Given the description of an element on the screen output the (x, y) to click on. 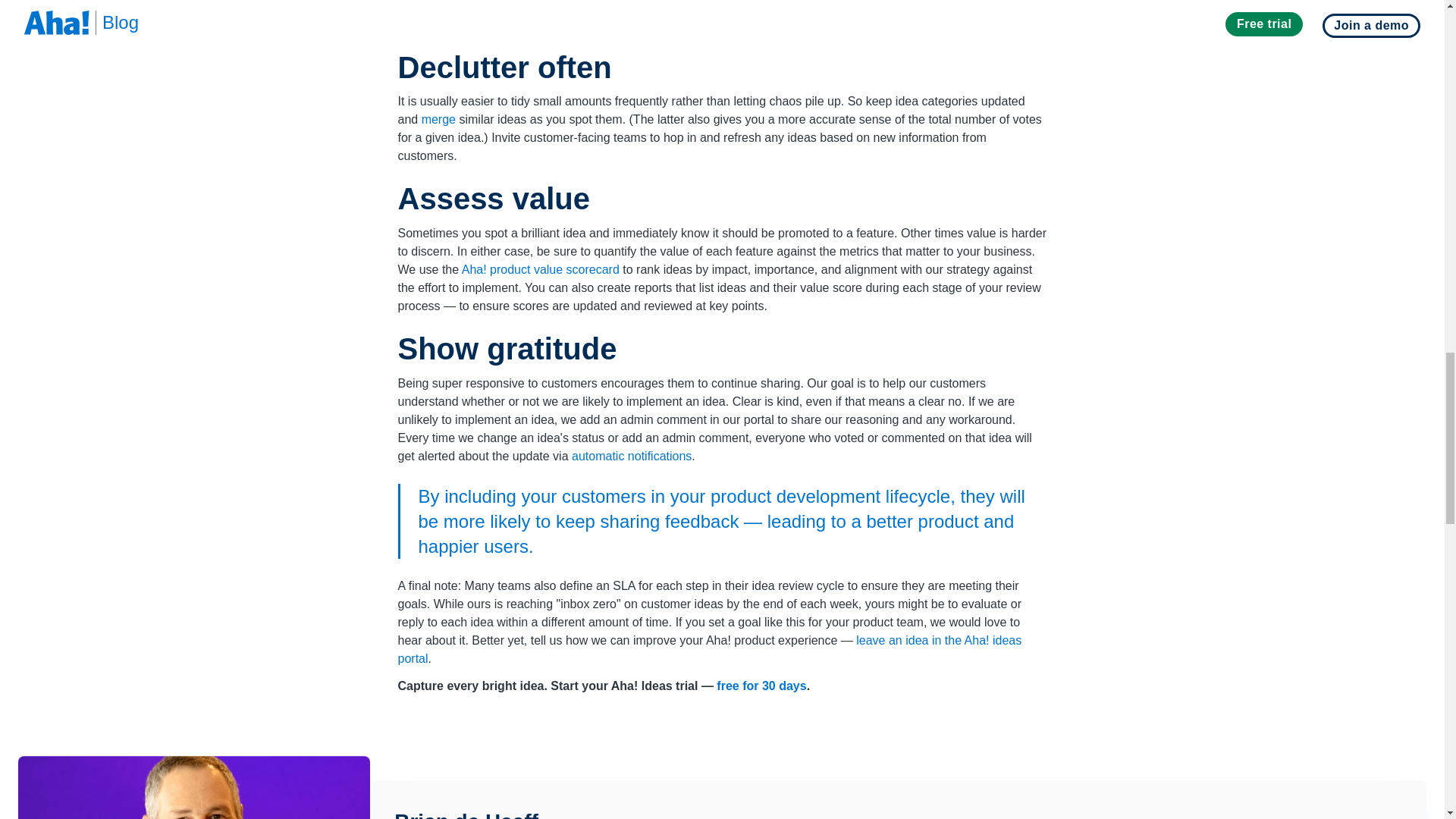
leave an idea in the Aha! ideas portal (709, 649)
free for 30 days (761, 685)
Aha! product value scorecard (540, 269)
automation rules (718, 6)
category (811, 6)
automatic notifications (631, 455)
merge (438, 119)
